Given the description of an element on the screen output the (x, y) to click on. 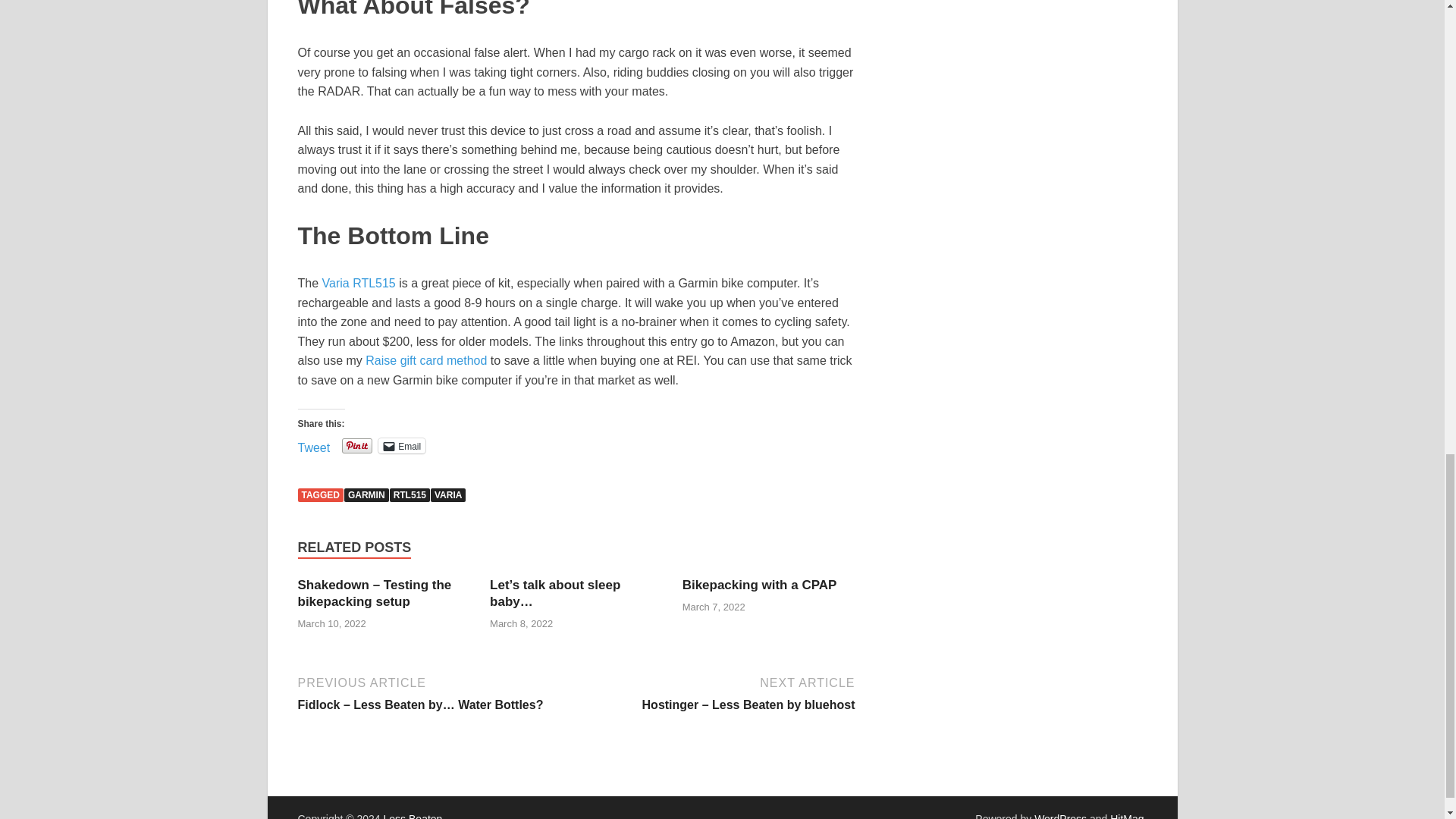
GARMIN (365, 495)
VARIA (447, 495)
Tweet (313, 445)
Bikepacking with a CPAP (759, 585)
Varia RTL515 (358, 282)
Email (401, 445)
RTL515 (409, 495)
Bikepacking with a CPAP (759, 585)
Raise gift card method (425, 359)
Click to email a link to a friend (401, 445)
